Given the description of an element on the screen output the (x, y) to click on. 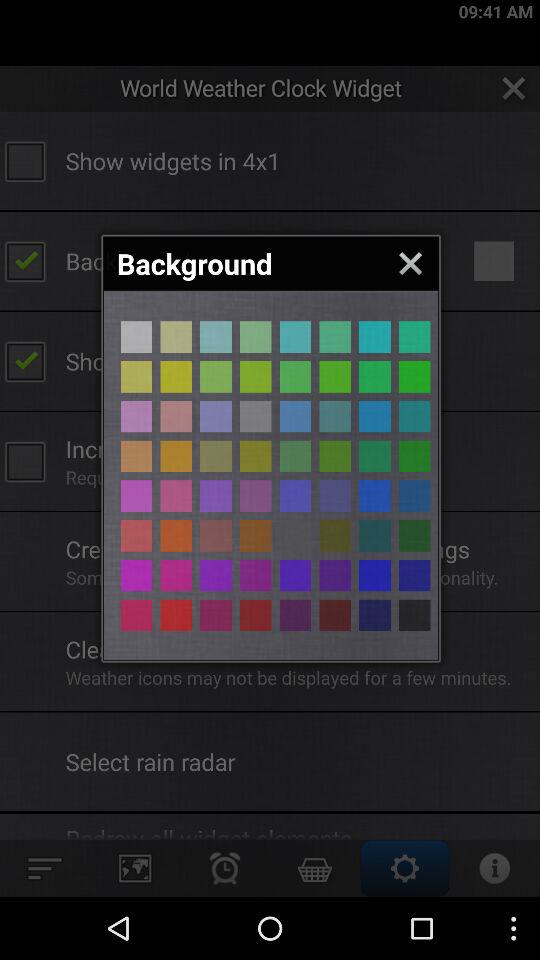
select background colour (136, 456)
